Given the description of an element on the screen output the (x, y) to click on. 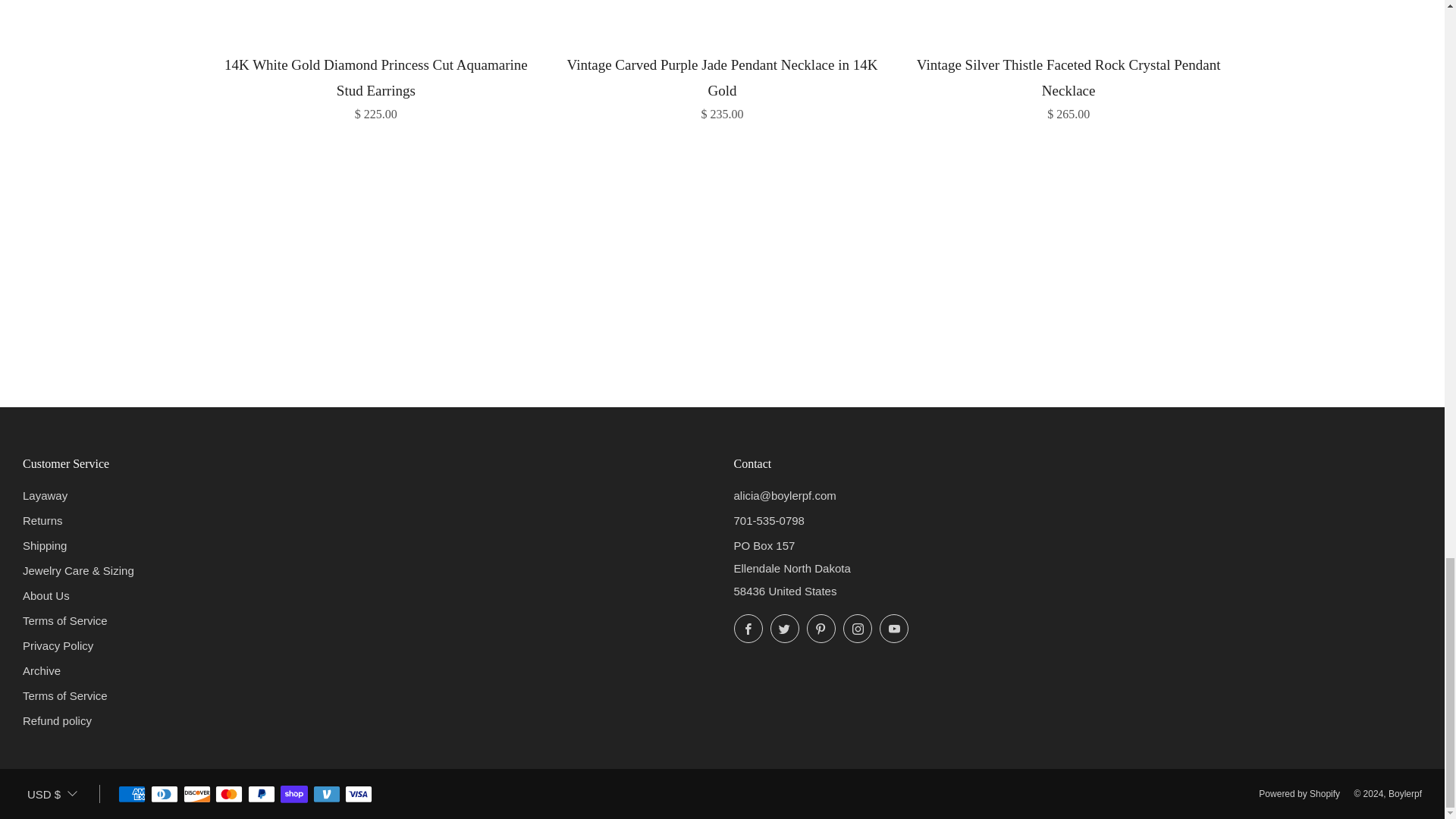
Vintage Silver Thistle Faceted Rock Crystal Pendant Necklace (1068, 86)
14K White Gold Diamond Princess Cut Aquamarine Stud Earrings (376, 86)
Vintage Carved Purple Jade Pendant Necklace in 14K Gold (721, 86)
